Given the description of an element on the screen output the (x, y) to click on. 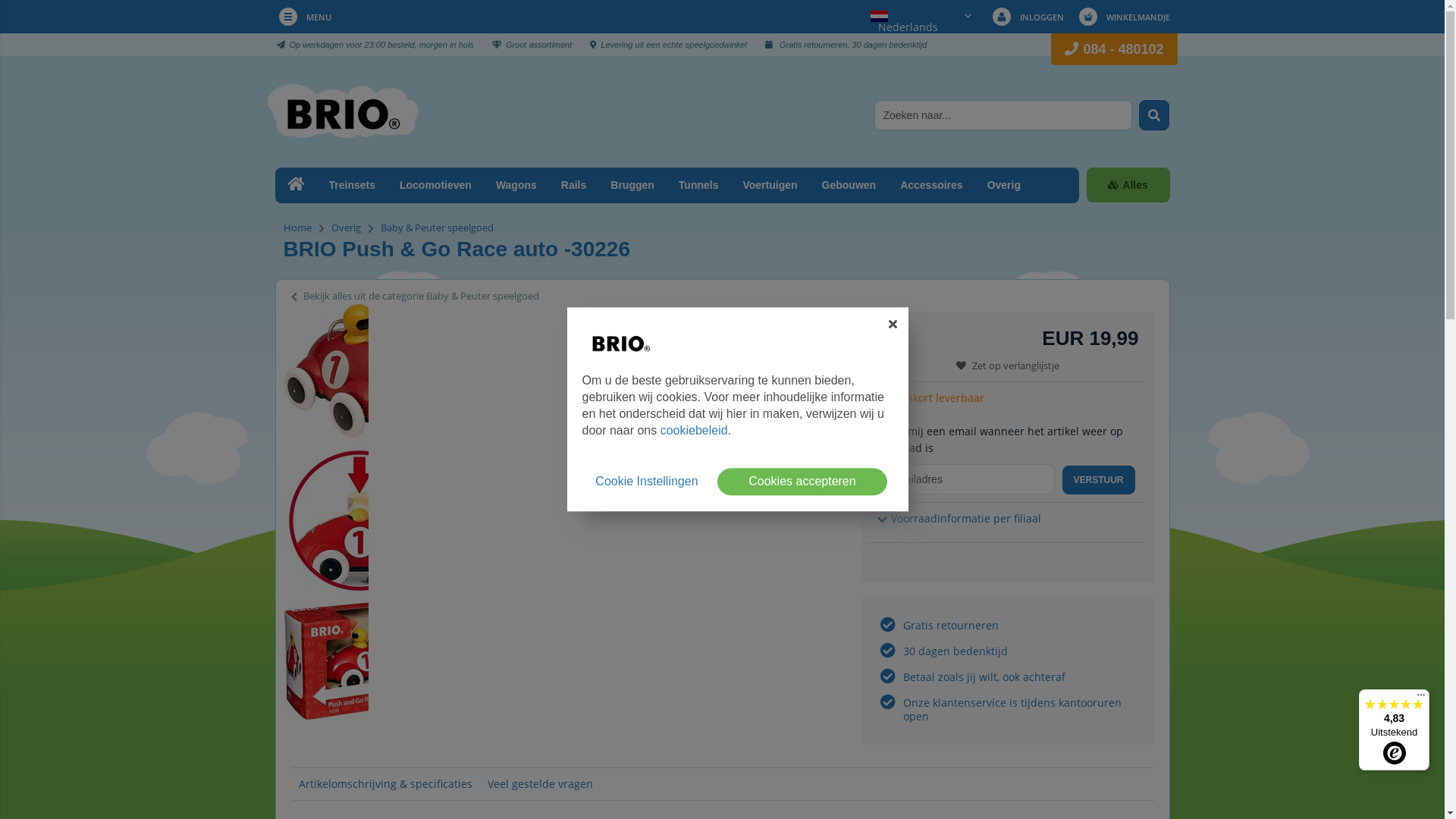
Artikelomschrijving & specificaties Element type: text (385, 783)
Overig Element type: text (345, 227)
Overig Element type: text (1003, 184)
Voorraadinformatie per filiaal Element type: text (958, 518)
084 - 480102 Element type: text (1122, 48)
Baby & Peuter speelgoed Element type: text (436, 227)
Treinsets Element type: text (351, 184)
Wagons Element type: text (516, 184)
Bruggen Element type: text (632, 184)
Cookie Instellingen Element type: text (646, 481)
Voertuigen Element type: text (769, 184)
Veel gestelde vragen Element type: text (539, 783)
Accessoires Element type: text (931, 184)
Zet op verlanglijstje Element type: text (1007, 365)
Home Element type: text (297, 227)
Locomotieven Element type: text (435, 184)
Bekijk alles uit de categorie Baby & Peuter speelgoed Element type: text (415, 295)
Cookies accepteren Element type: text (801, 481)
cookiebeleid Element type: text (694, 430)
WINKELMANDJE Element type: text (1122, 16)
Alles Element type: text (1127, 184)
Rails Element type: text (573, 184)
Gebouwen Element type: text (848, 184)
Tunnels Element type: text (698, 184)
